Given the description of an element on the screen output the (x, y) to click on. 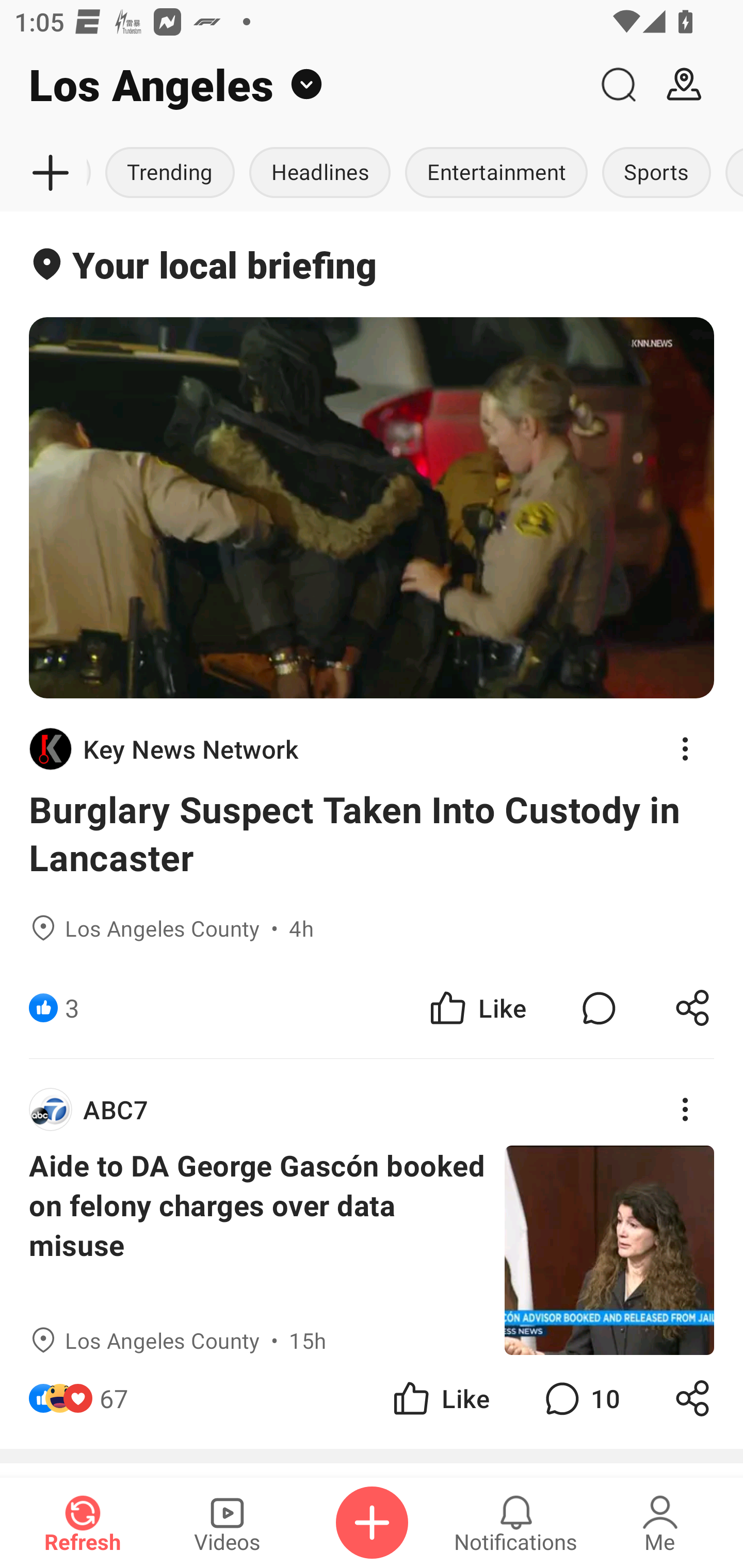
Los Angeles (292, 84)
Trending (170, 172)
Headlines (319, 172)
Entertainment (496, 172)
Sports (656, 172)
3 (72, 1007)
Like (476, 1007)
67 (113, 1397)
Like (439, 1397)
10 (579, 1397)
Videos (227, 1522)
Notifications (516, 1522)
Me (659, 1522)
